Given the description of an element on the screen output the (x, y) to click on. 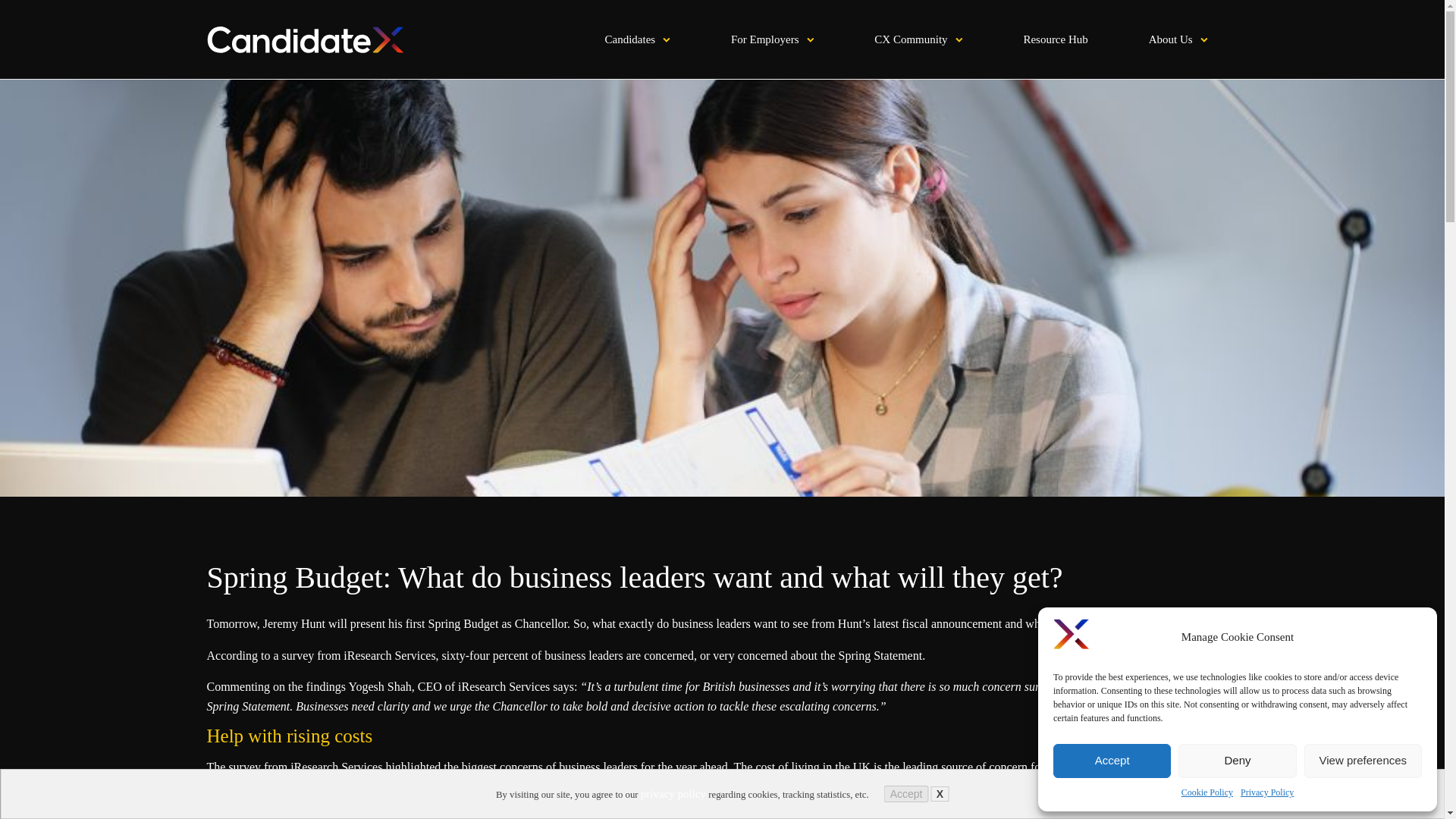
inflation (252, 815)
Privacy Policy (1267, 792)
About Us (1178, 39)
Accept (905, 793)
privacy policy (673, 793)
Cookie Policy (1206, 792)
CX Community (918, 39)
Accept (1111, 760)
View preferences (1363, 760)
end in April (645, 815)
